Given the description of an element on the screen output the (x, y) to click on. 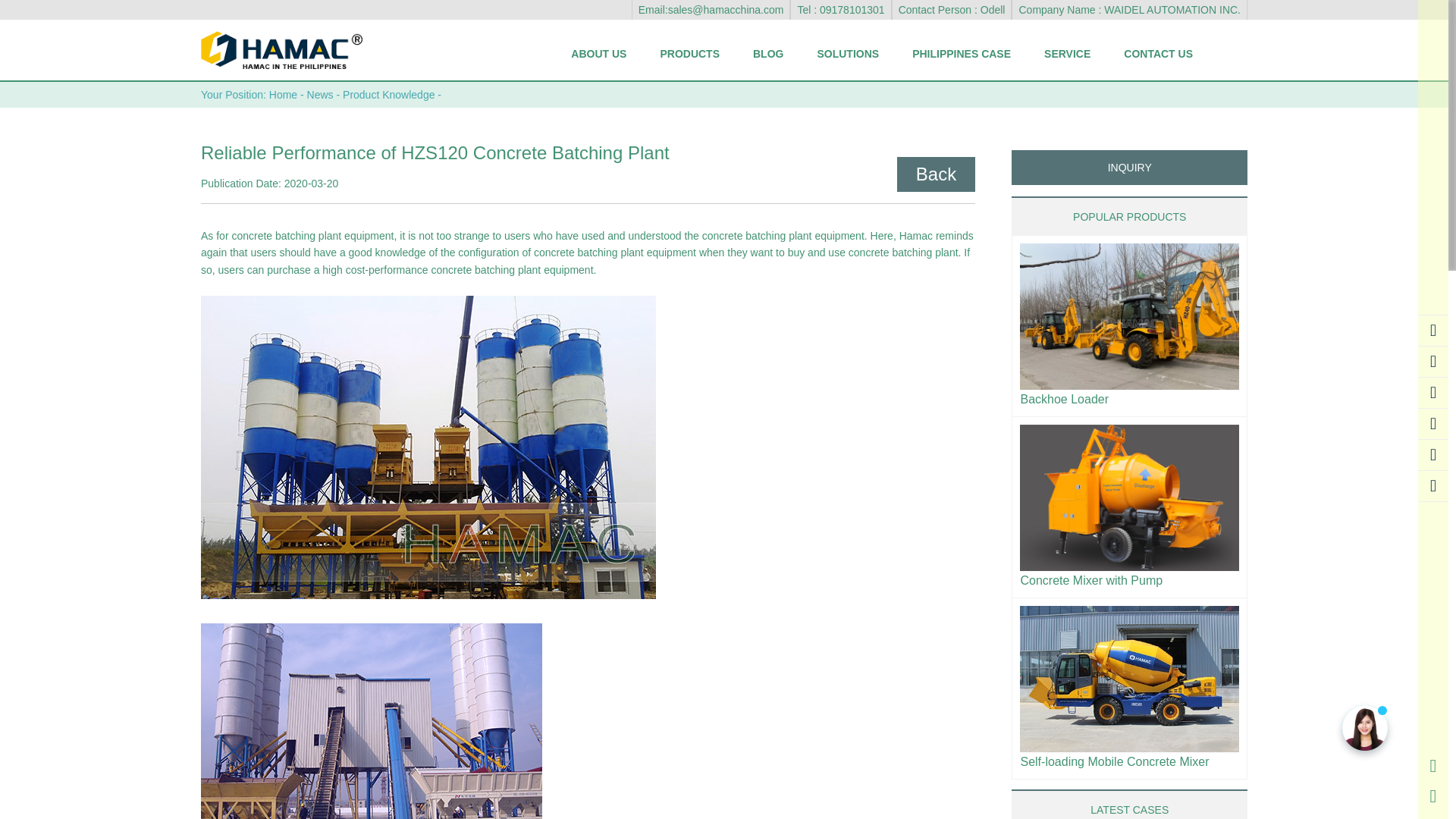
CONTACT US (1157, 53)
ABOUT US (598, 53)
SOLUTIONS (847, 53)
News (320, 94)
PHILIPPINES CASE (961, 53)
PRODUCTS (689, 53)
BLOG (767, 53)
Home (283, 94)
SERVICE (1066, 53)
Product Knowledge (387, 94)
